Given the description of an element on the screen output the (x, y) to click on. 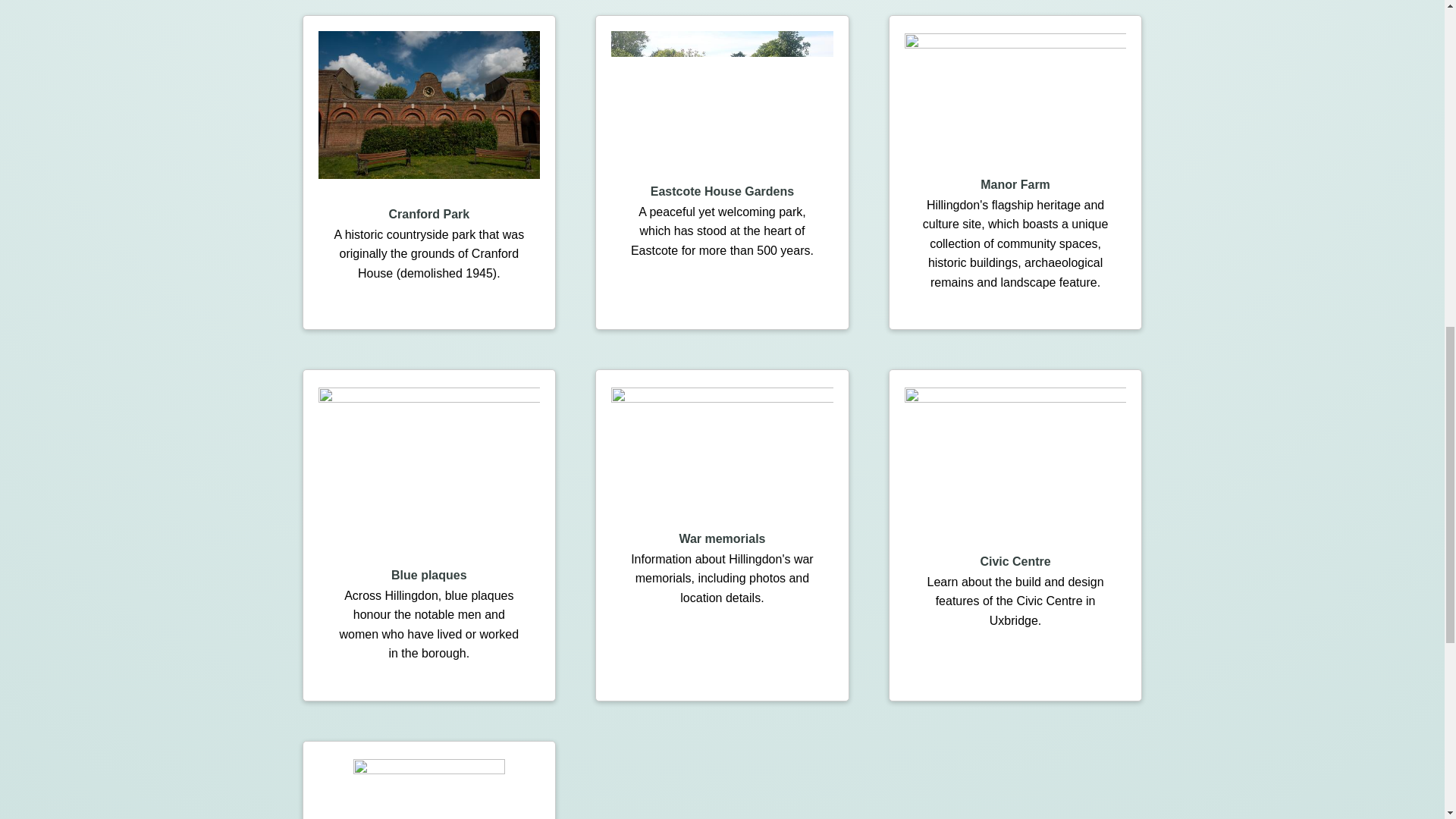
Civic Centre (1014, 561)
Blue plaques (429, 574)
Cranford Park (428, 214)
Manor Farm (1014, 183)
Eastcote House Gardens (721, 191)
War memorials (721, 538)
